Given the description of an element on the screen output the (x, y) to click on. 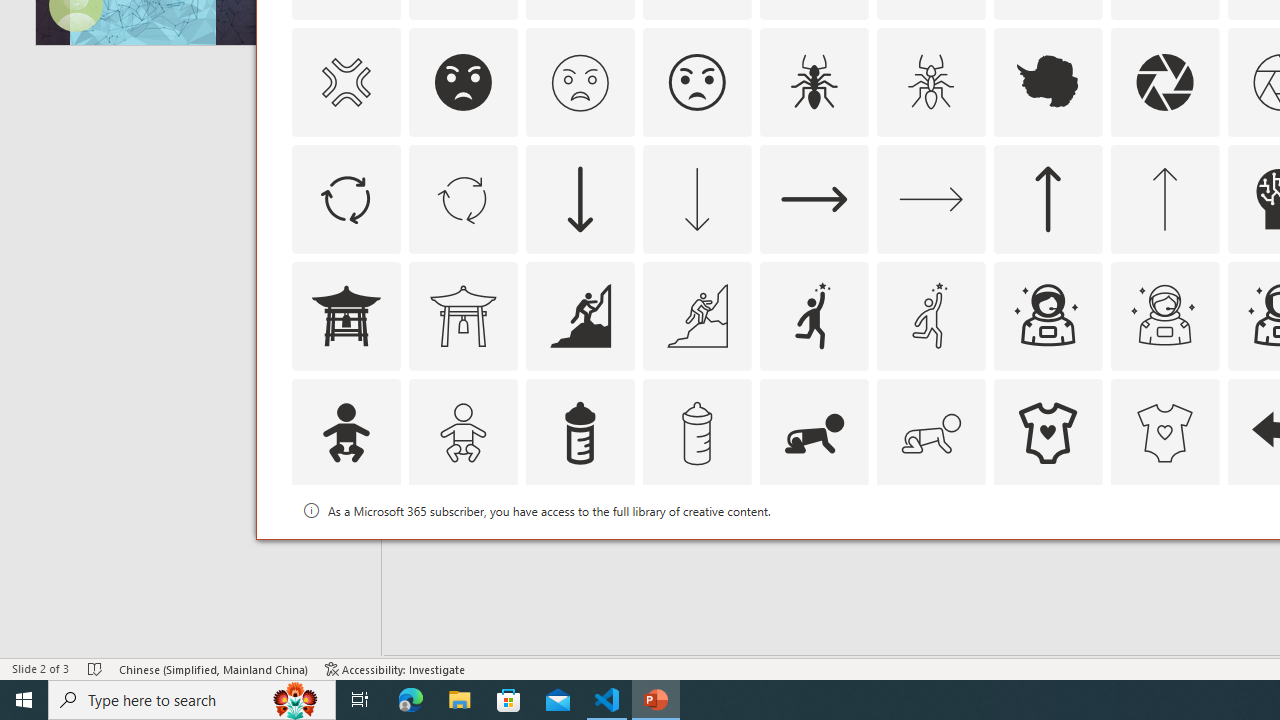
AutomationID: Icons_BabyOnesie_M (1164, 432)
AutomationID: Icons_BabyBottle (579, 432)
AutomationID: Icons_Antarctica (1048, 82)
AutomationID: Icons_Badge5 (1164, 550)
AutomationID: Icons_AsianTemple1 (345, 316)
AutomationID: Icons_BabyCrawling (813, 432)
